Given the description of an element on the screen output the (x, y) to click on. 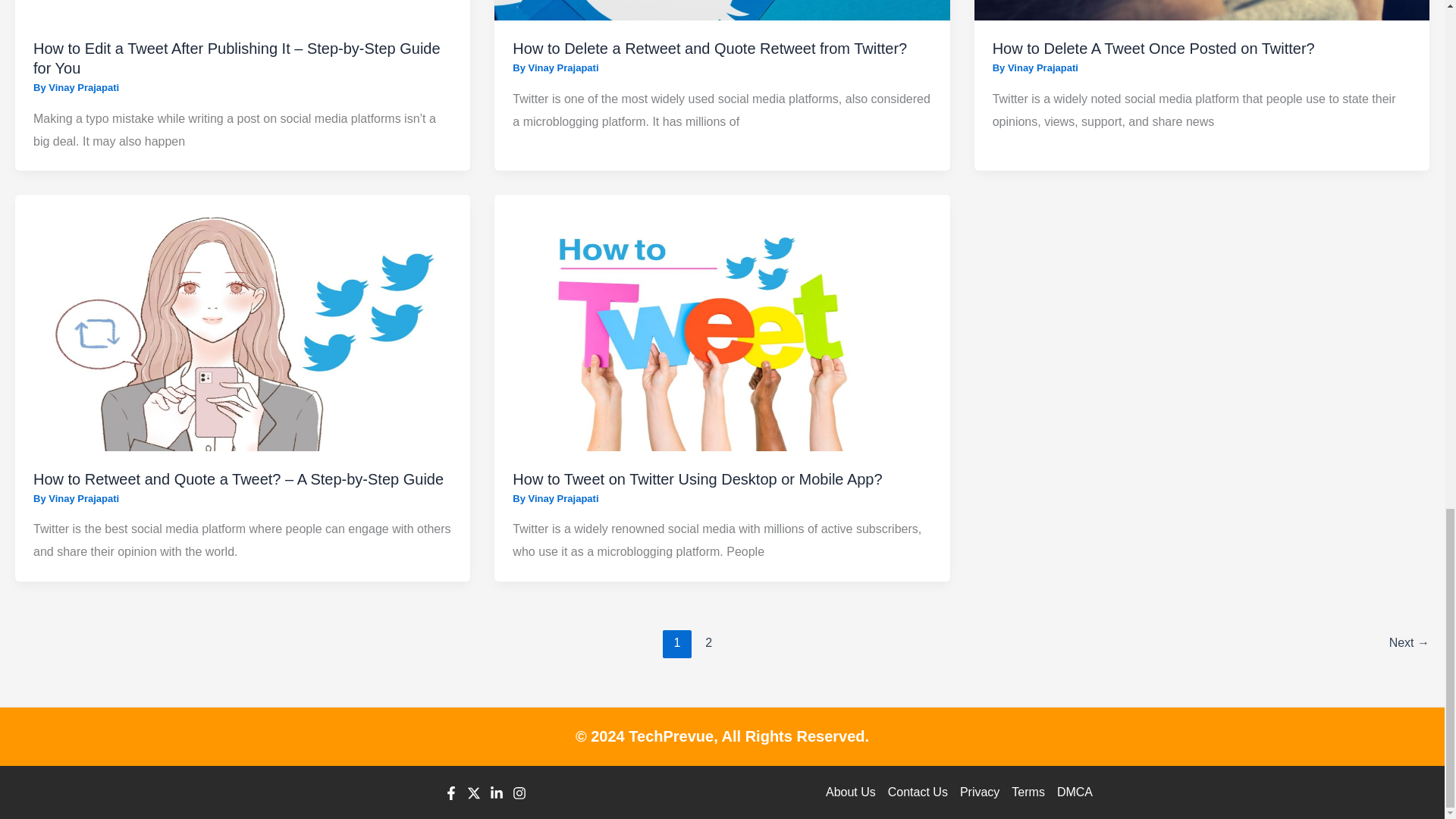
View all posts by Vinay Prajapati (563, 498)
View all posts by Vinay Prajapati (1042, 67)
View all posts by Vinay Prajapati (563, 67)
View all posts by Vinay Prajapati (83, 498)
View all posts by Vinay Prajapati (83, 87)
